Given the description of an element on the screen output the (x, y) to click on. 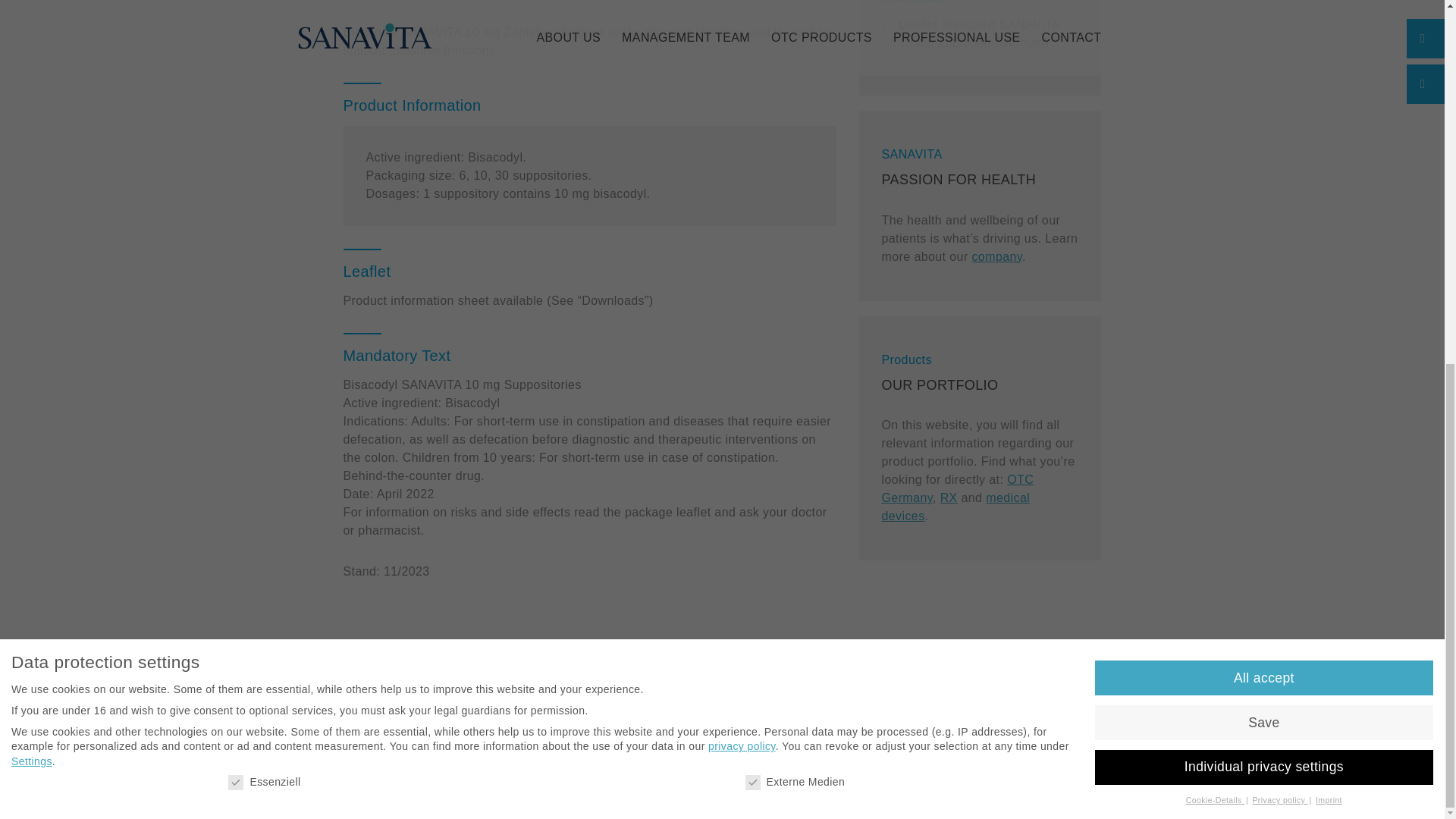
DATA PROTECTION STATEMENT (749, 712)
CONTACT (872, 712)
Save (1263, 71)
Privacy policy (1279, 148)
Cookie-Details (1215, 148)
RX (949, 497)
OTC Germany (956, 488)
LEGAL INFORMATION (597, 712)
Imprint (1329, 148)
Settings (31, 110)
